Given the description of an element on the screen output the (x, y) to click on. 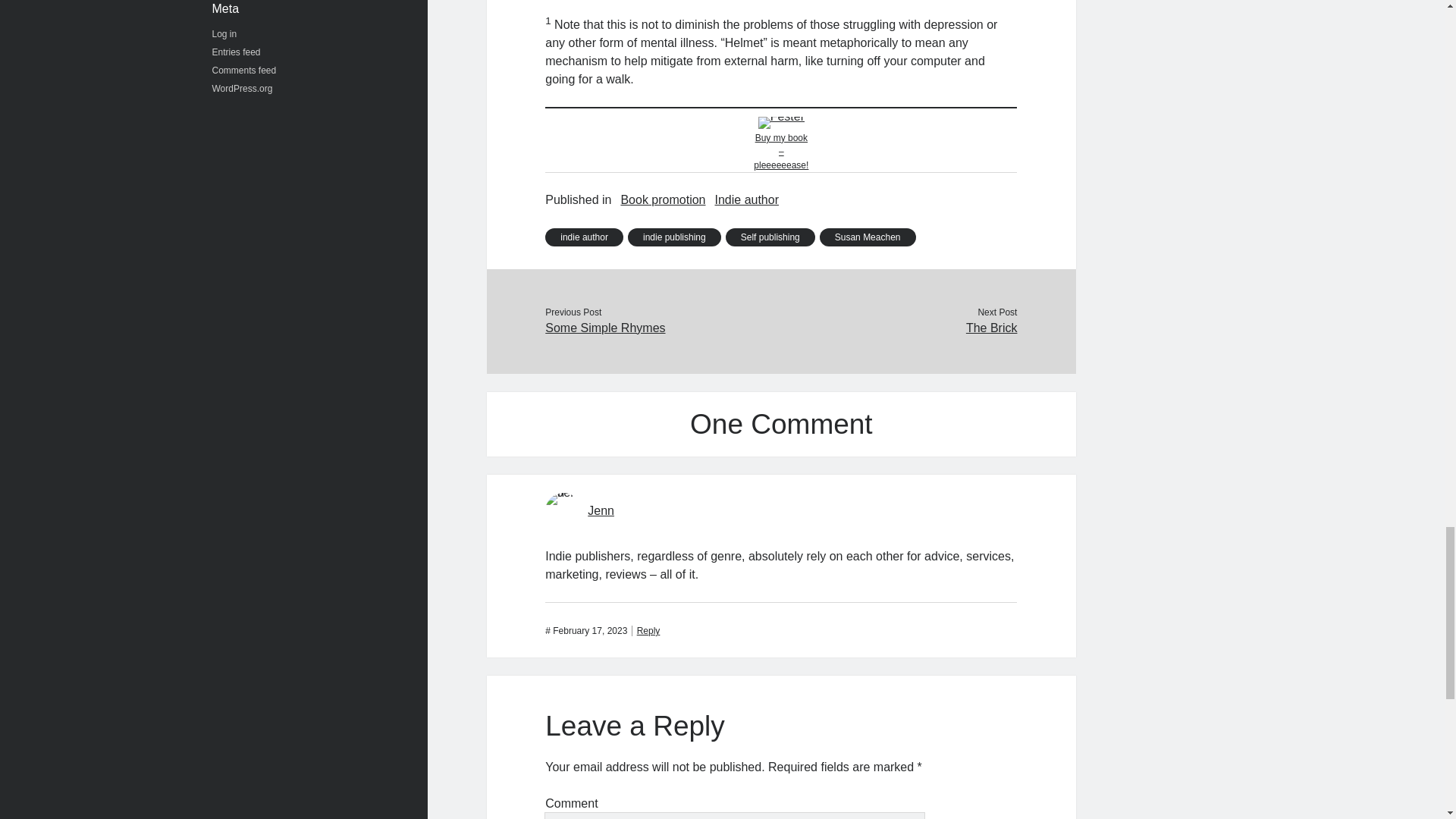
View all posts in Indie author (746, 199)
View all posts in Book promotion (662, 199)
View all posts tagged Self publishing (770, 237)
View all posts tagged indie publishing (673, 237)
View all posts tagged indie author (583, 237)
View all posts tagged Susan Meachen (867, 237)
